Given the description of an element on the screen output the (x, y) to click on. 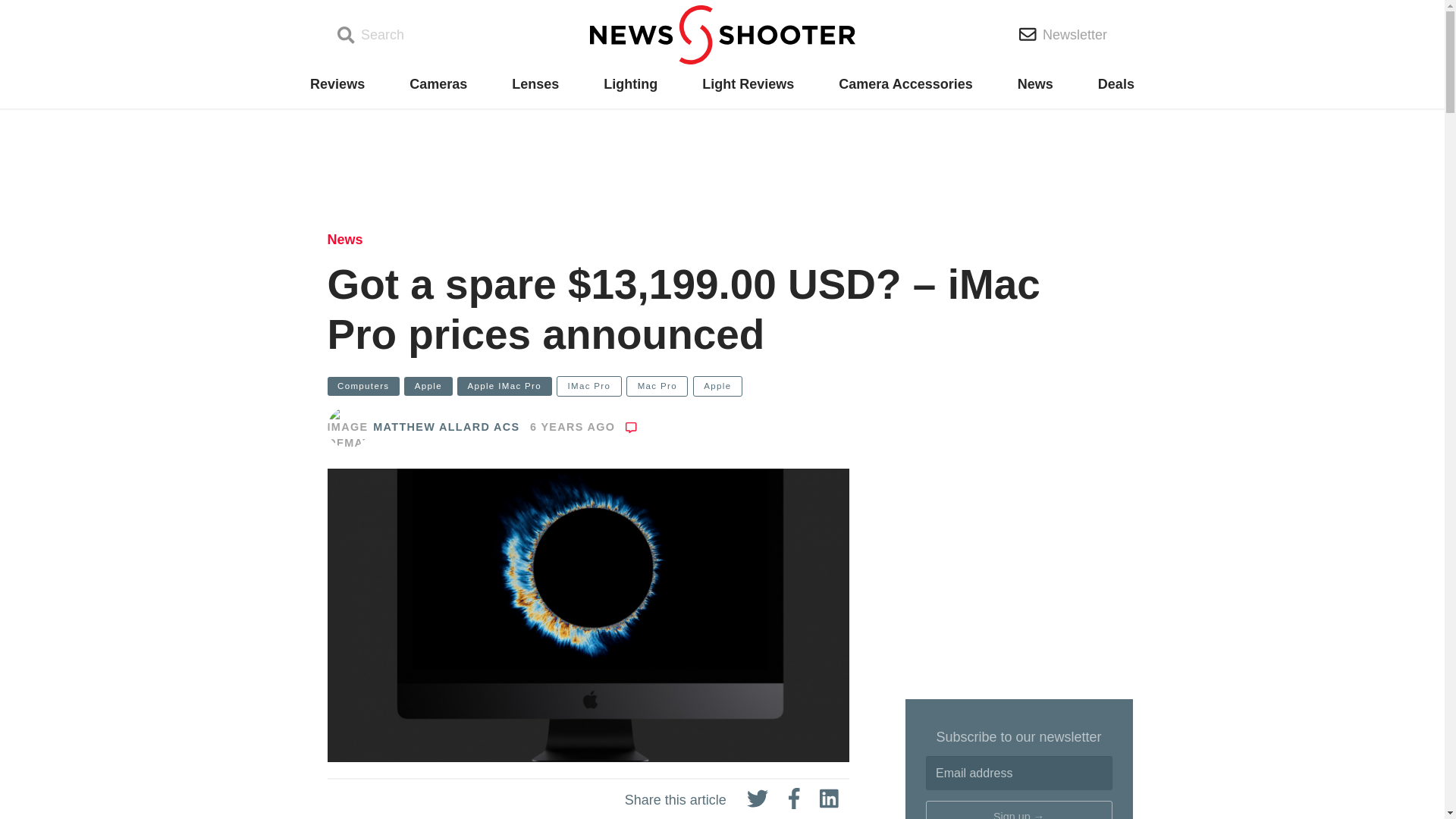
Apple (427, 385)
Search (370, 35)
IMac Pro (588, 385)
News (344, 240)
3rd party ad content (721, 164)
Reviews (337, 84)
Computers (362, 385)
MATTHEW ALLARD ACS (445, 427)
3rd party ad content (1018, 583)
News (1034, 84)
